Given the description of an element on the screen output the (x, y) to click on. 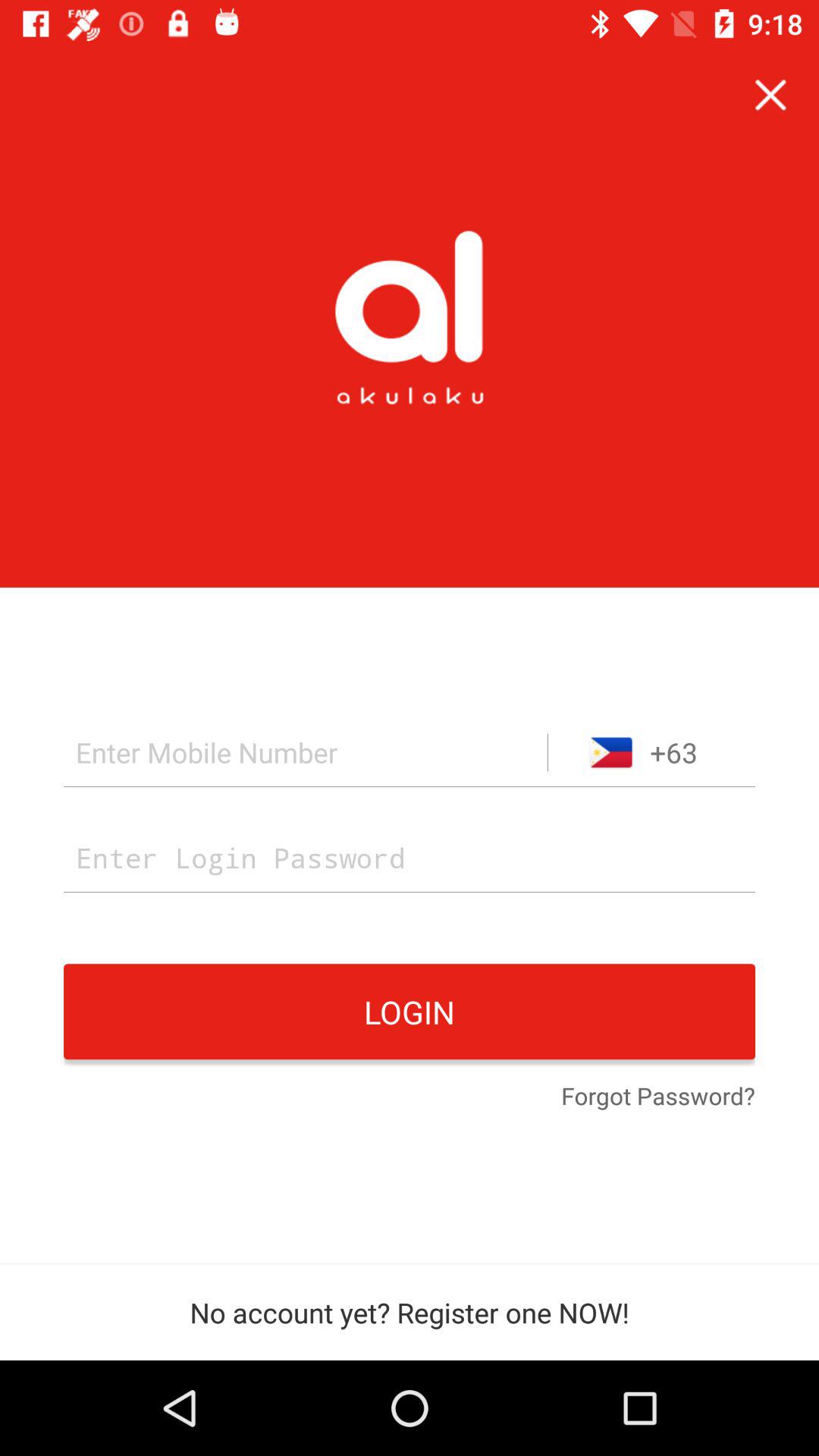
press the login icon (409, 1011)
